Given the description of an element on the screen output the (x, y) to click on. 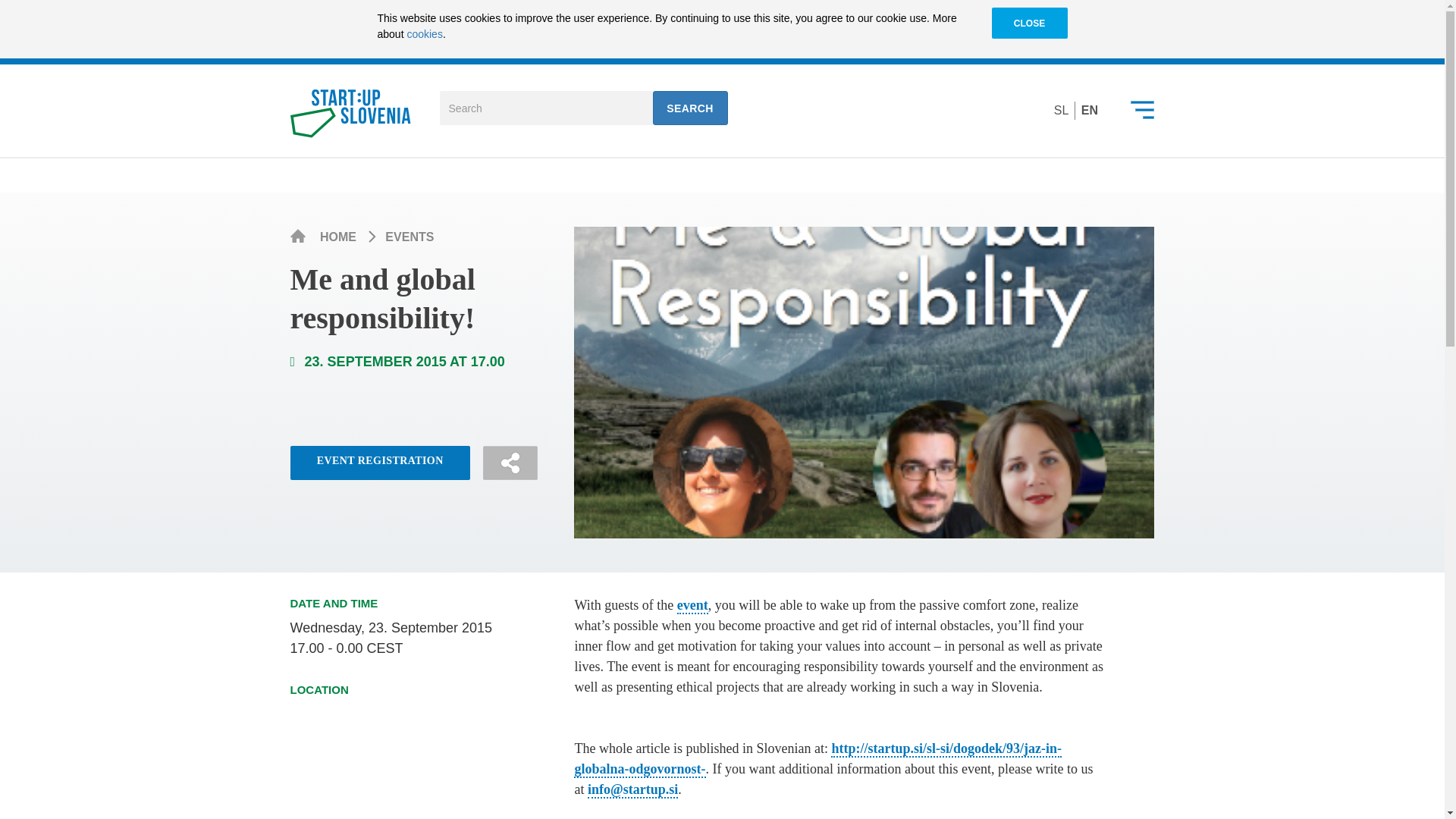
EVENTS (409, 236)
SL (1061, 110)
event (692, 605)
SEARCH (690, 107)
EN (1089, 110)
CLOSE (1029, 23)
HOME (339, 236)
EVENT REGISTRATION (378, 462)
cookies (424, 33)
